Given the description of an element on the screen output the (x, y) to click on. 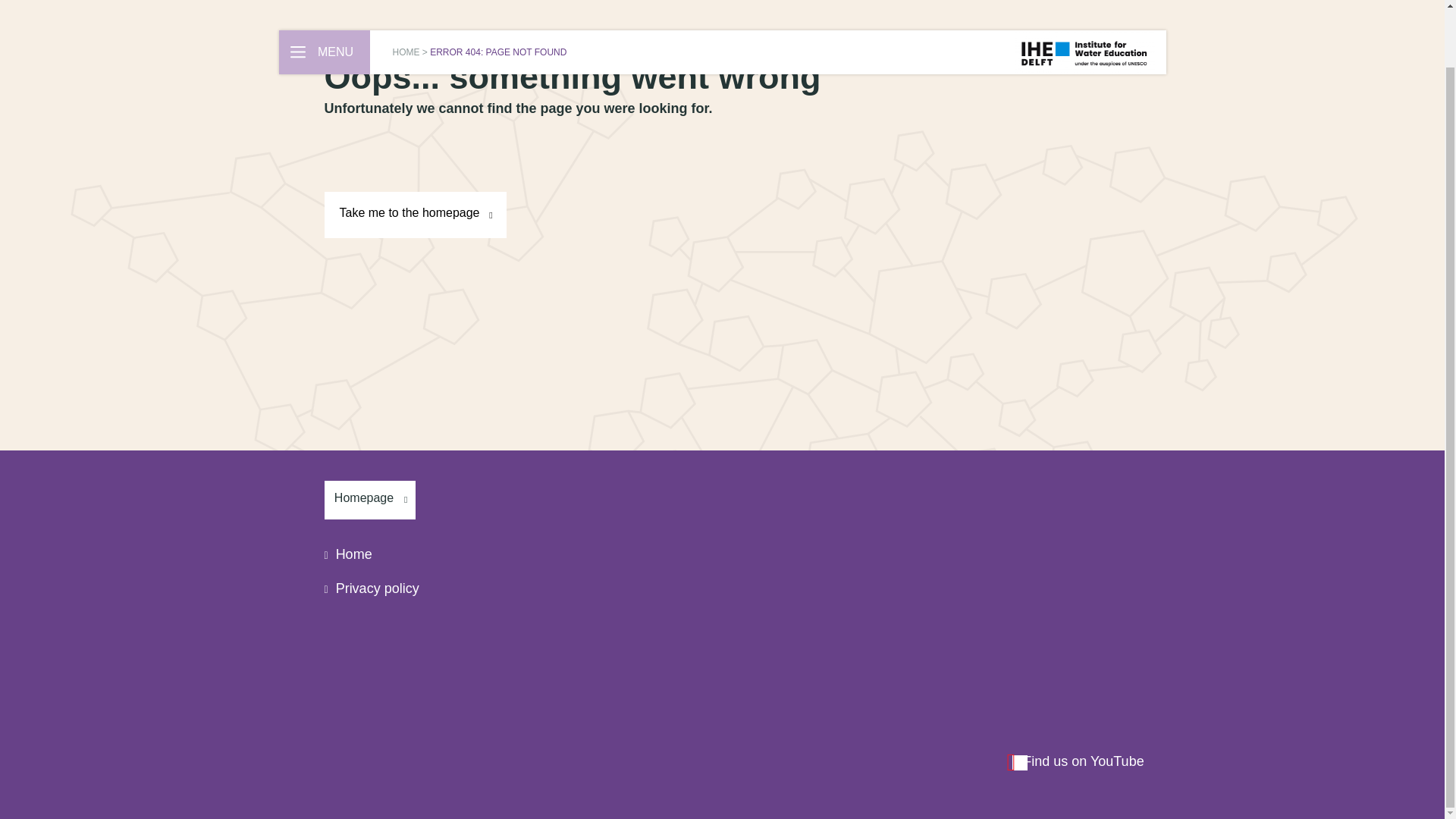
Privacy policy (371, 588)
Home (348, 554)
Take me to the homepage (415, 214)
MENU (324, 6)
Homepage (369, 499)
Find us on YouTube (1075, 761)
